Given the description of an element on the screen output the (x, y) to click on. 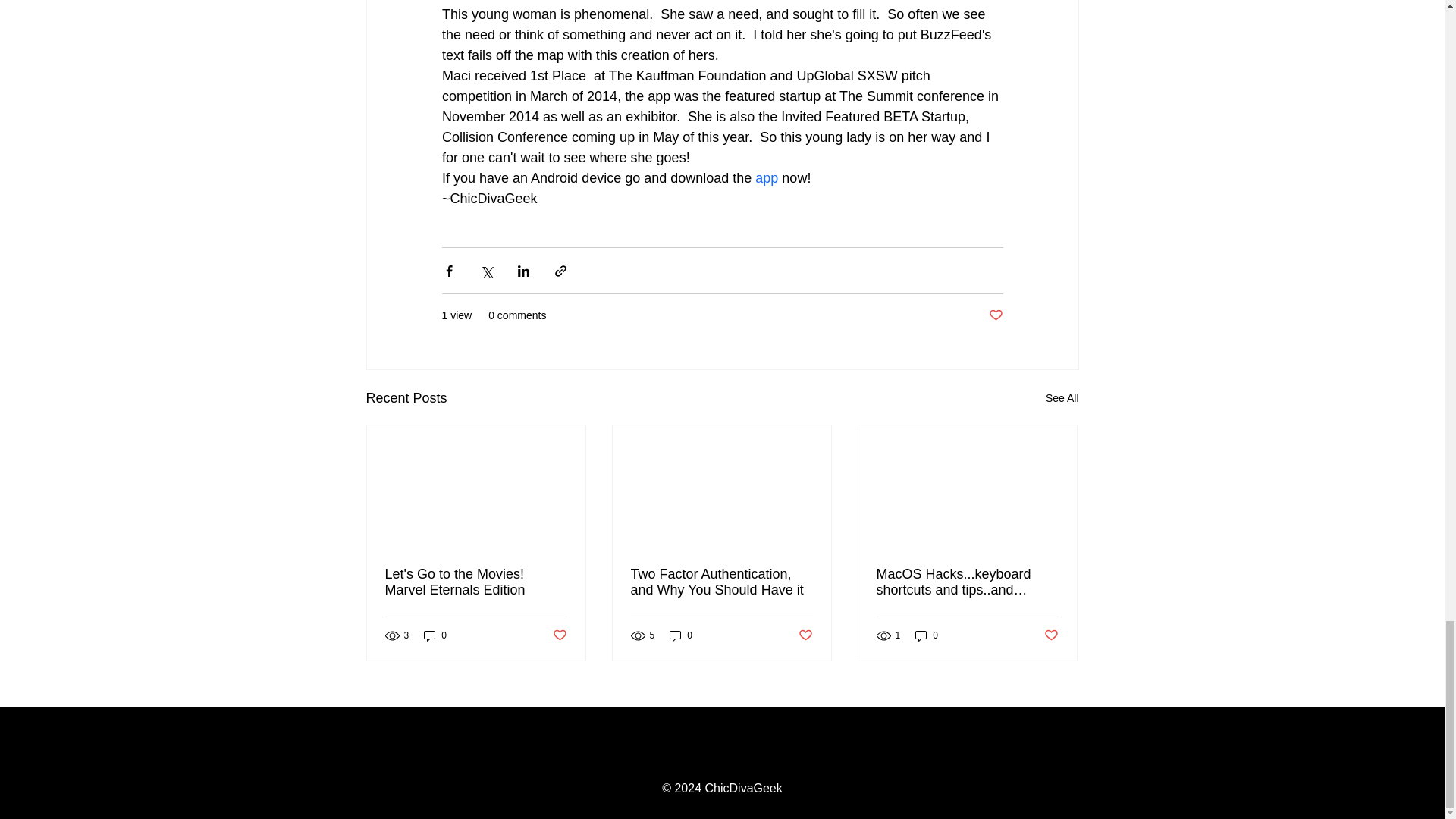
Two Factor Authentication, and Why You Should Have it (721, 582)
Post not marked as liked (558, 635)
0 (926, 635)
0 (435, 635)
Post not marked as liked (995, 315)
See All (1061, 398)
Post not marked as liked (804, 635)
0 (681, 635)
app (766, 177)
